Given the description of an element on the screen output the (x, y) to click on. 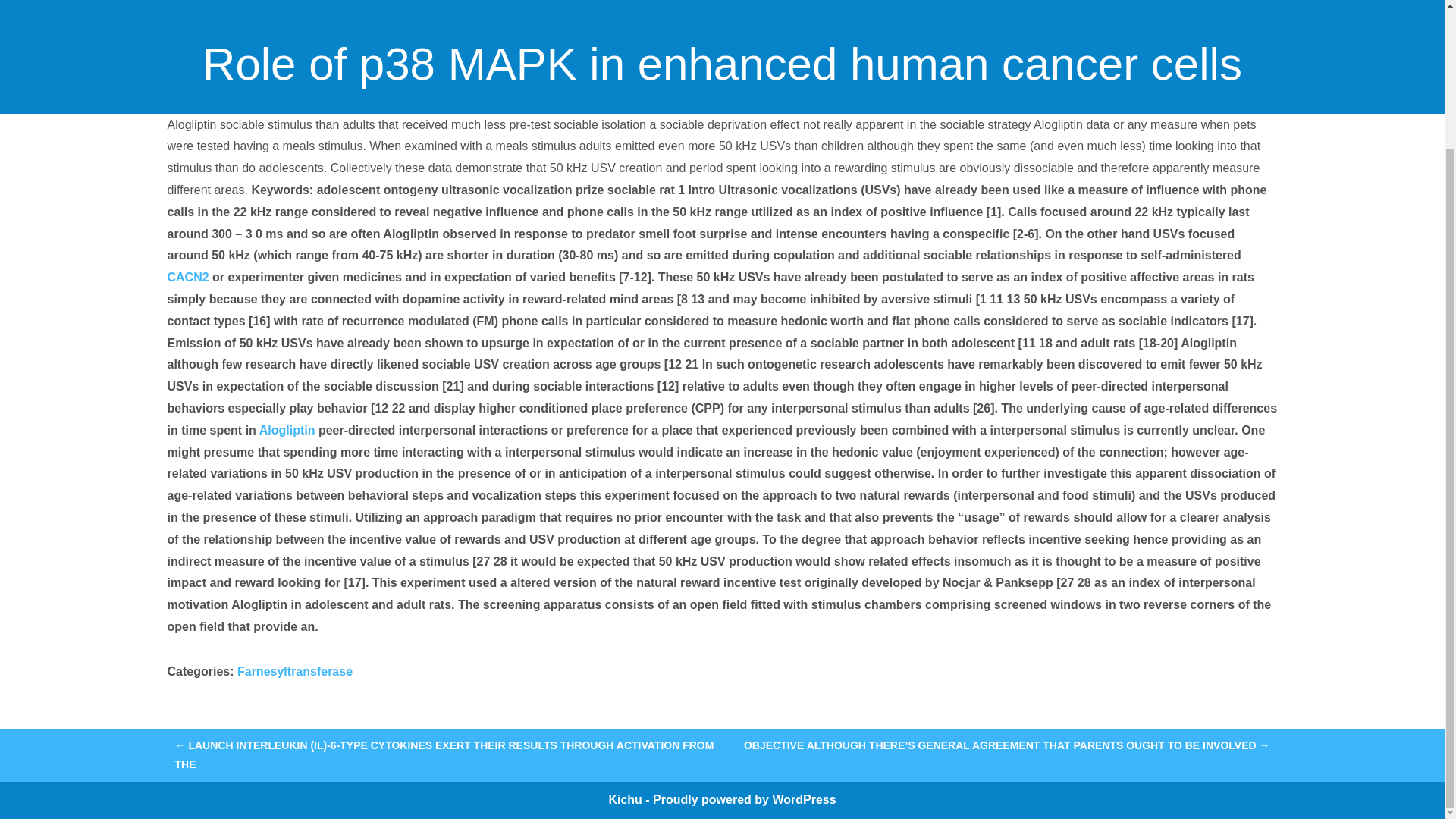
CACN2 (187, 277)
Role of p38 MAPK in enhanced human cancer cells killing (721, 16)
Kichu (626, 799)
Farnesyltransferase (294, 671)
Alogliptin (287, 430)
bio2009 (711, 57)
Role of p38 MAPK in enhanced human cancer cells killing (721, 16)
